Given the description of an element on the screen output the (x, y) to click on. 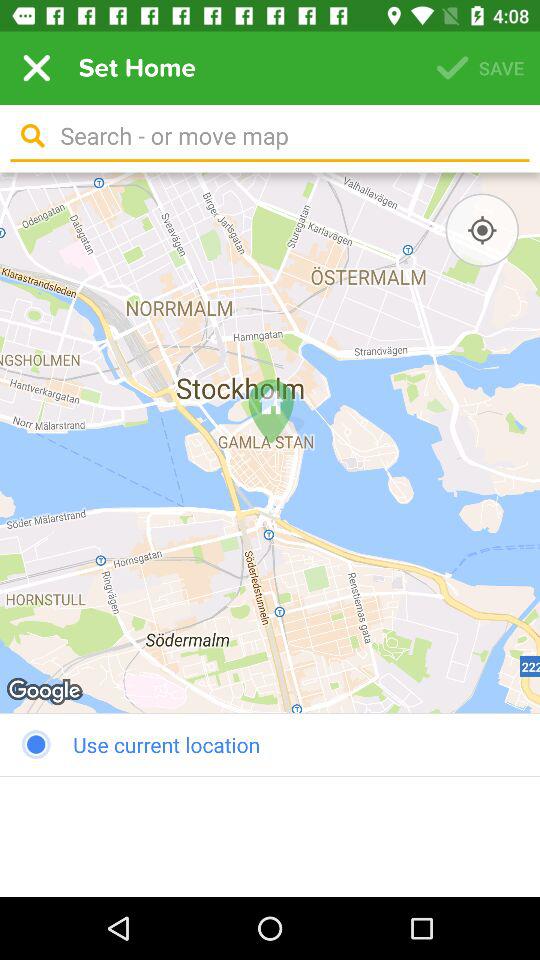
enter search keyword (288, 135)
